Given the description of an element on the screen output the (x, y) to click on. 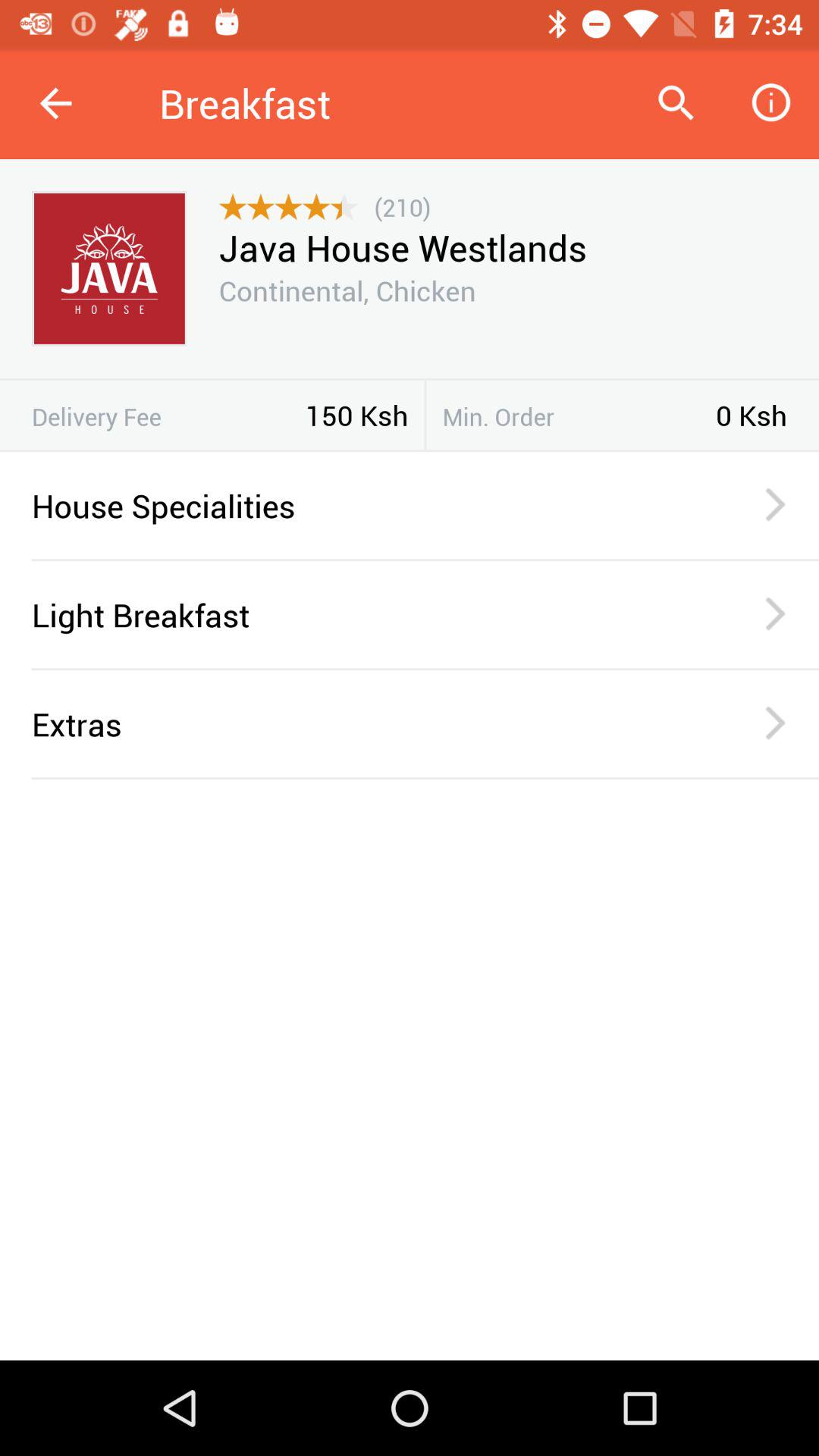
scroll until extras item (365, 723)
